Given the description of an element on the screen output the (x, y) to click on. 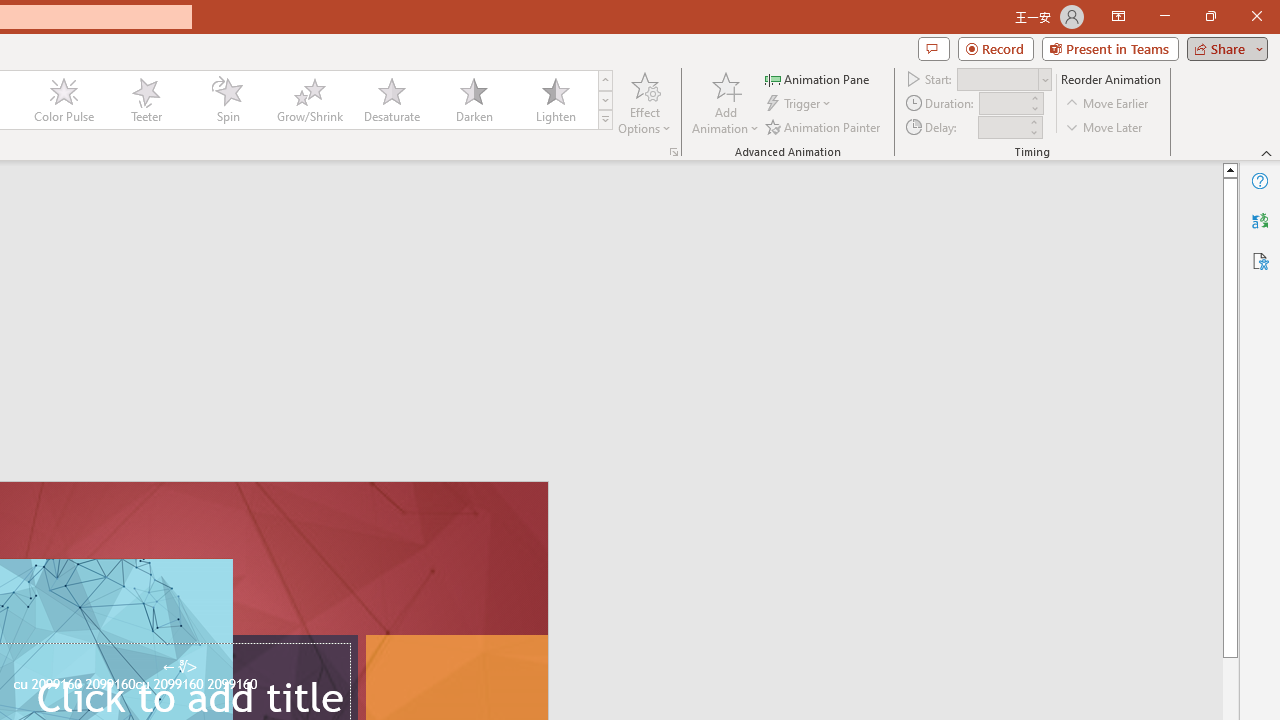
Animation Duration (1003, 103)
Animation Styles (605, 120)
Effect Options (644, 102)
Animation Painter (824, 126)
More Options... (673, 151)
TextBox 61 (186, 686)
Grow/Shrink (309, 100)
Spin (227, 100)
